Given the description of an element on the screen output the (x, y) to click on. 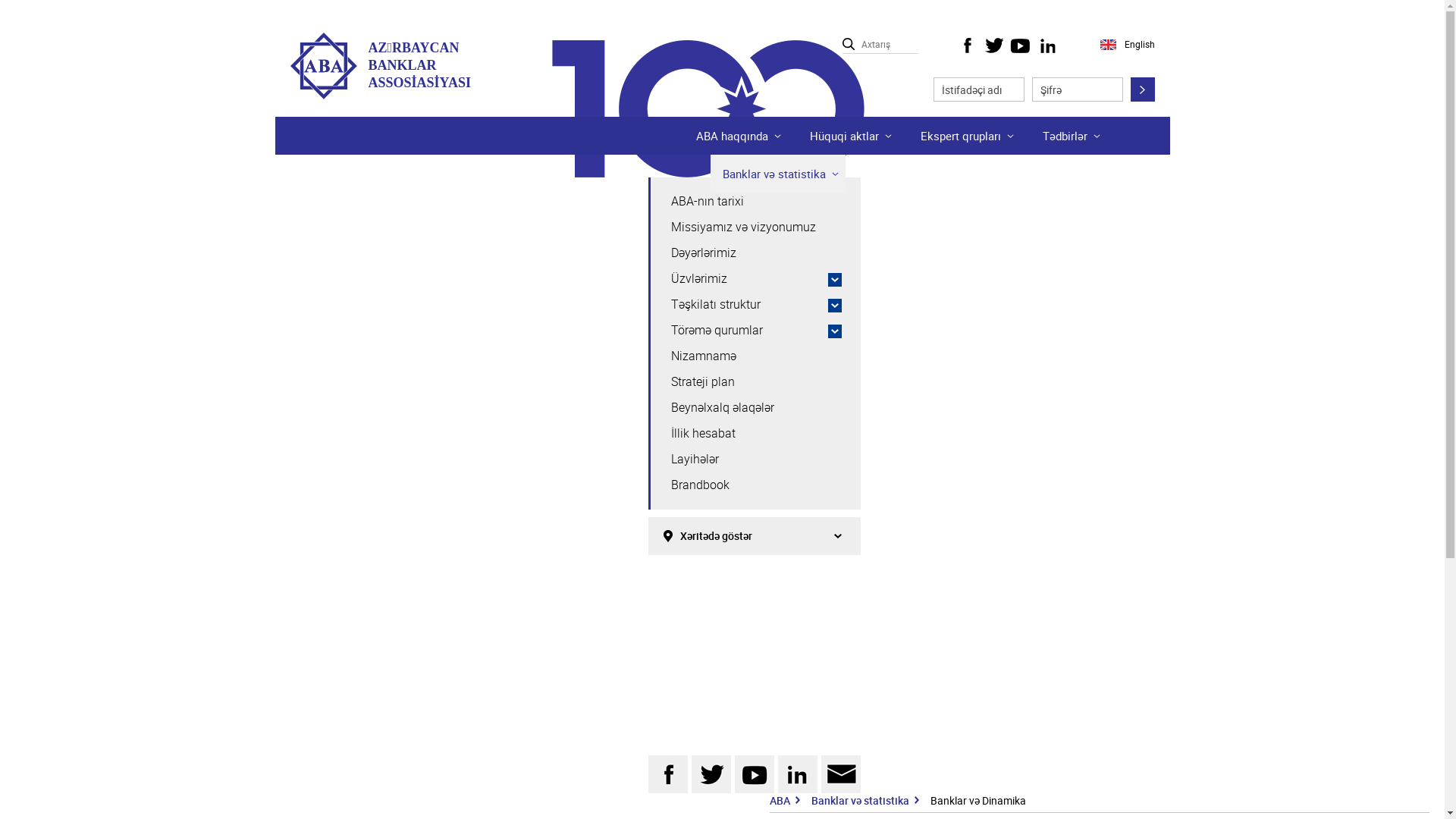
English Element type: text (1126, 44)
Strateji plan Element type: text (756, 382)
Daxil ol Element type: text (1141, 89)
Brandbook Element type: text (756, 485)
ABA Element type: text (779, 800)
